Given the description of an element on the screen output the (x, y) to click on. 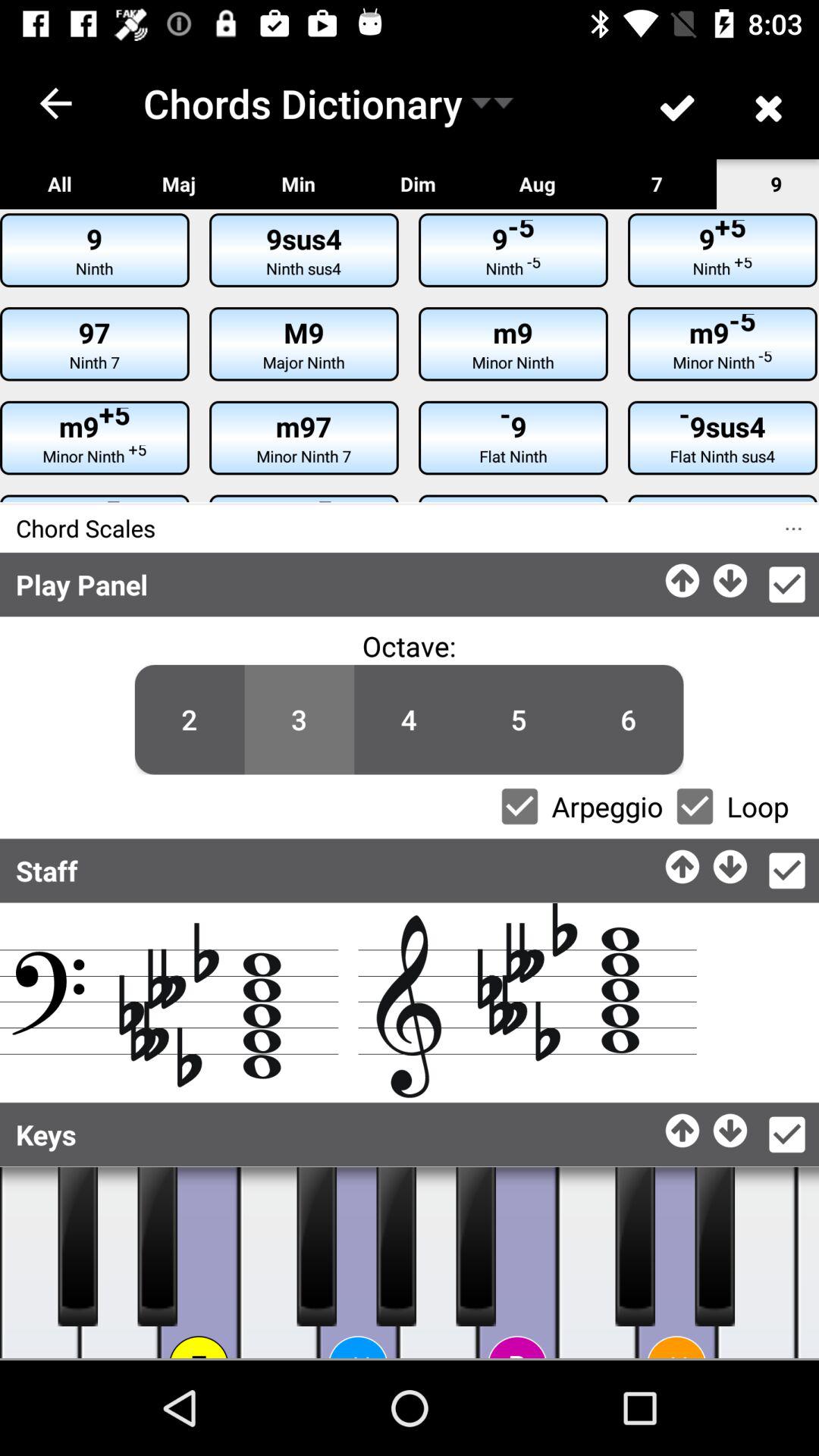
play music (198, 1262)
